Given the description of an element on the screen output the (x, y) to click on. 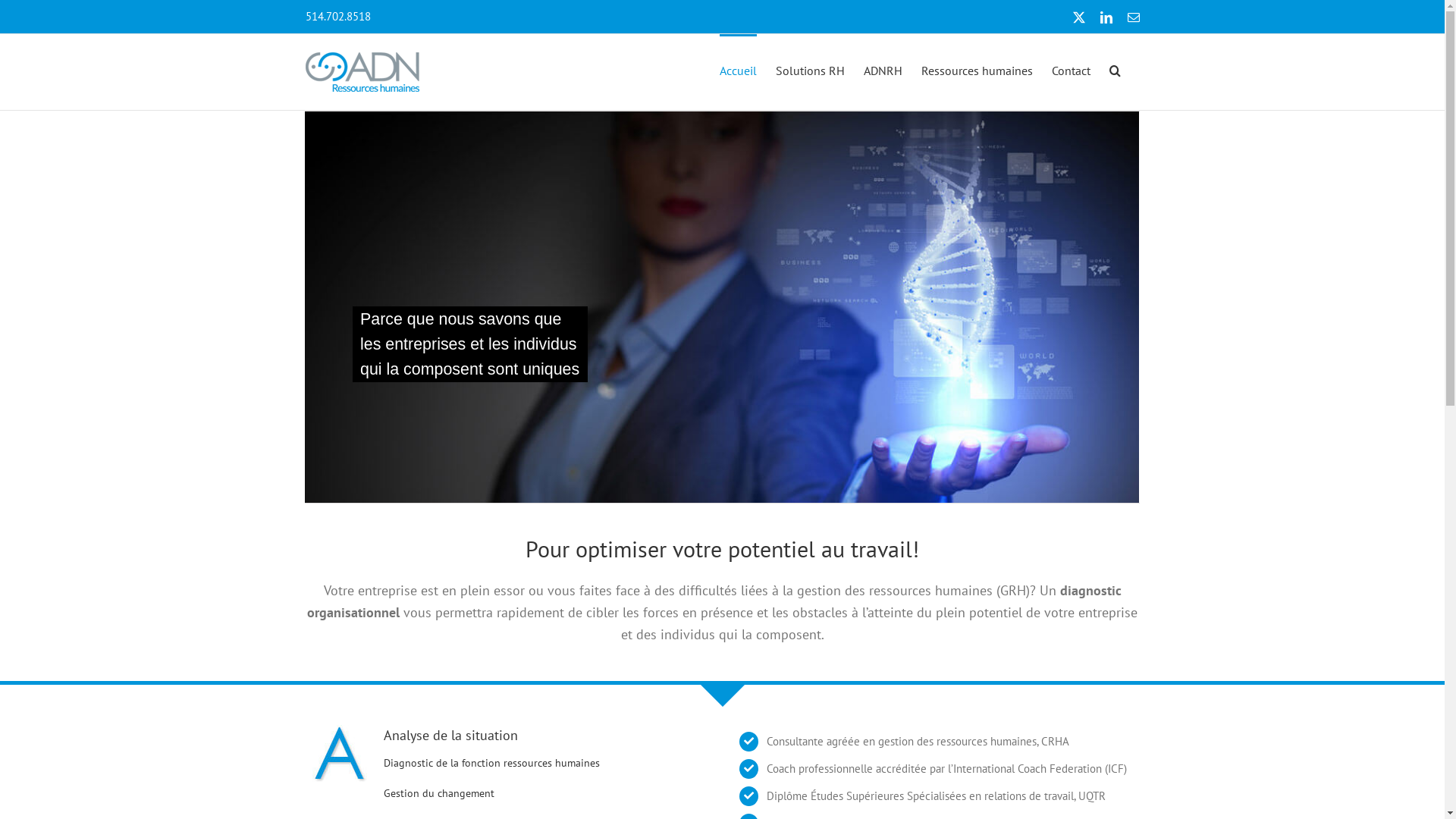
Contact Element type: text (1070, 69)
Gestion du changement Element type: text (438, 793)
Solutions RH Element type: text (809, 69)
Ressources humaines Element type: text (976, 69)
Twitter Element type: text (1078, 17)
Accueil Element type: text (737, 69)
Email Element type: text (1132, 17)
ADNRH Element type: text (881, 69)
Diagnostic de la fonction ressources humaines Element type: text (491, 762)
Recherche Element type: hover (1114, 69)
LinkedIn Element type: text (1105, 17)
